Given the description of an element on the screen output the (x, y) to click on. 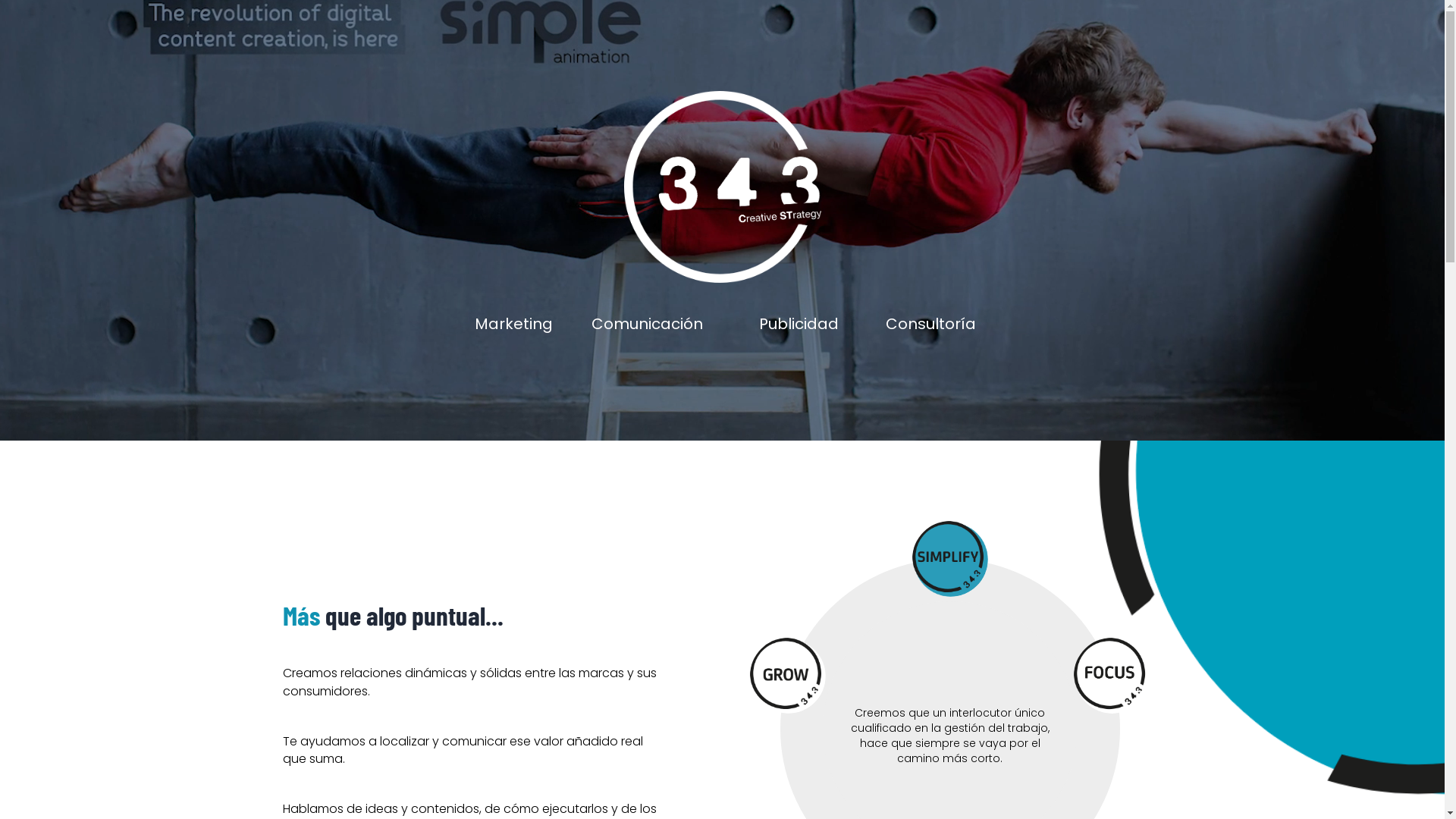
Grupo 11 Element type: hover (949, 558)
Grupo 16@2x Element type: hover (1111, 675)
Grupo 21@2x Element type: hover (787, 675)
Grupo 6@2x Element type: hover (721, 186)
